Given the description of an element on the screen output the (x, y) to click on. 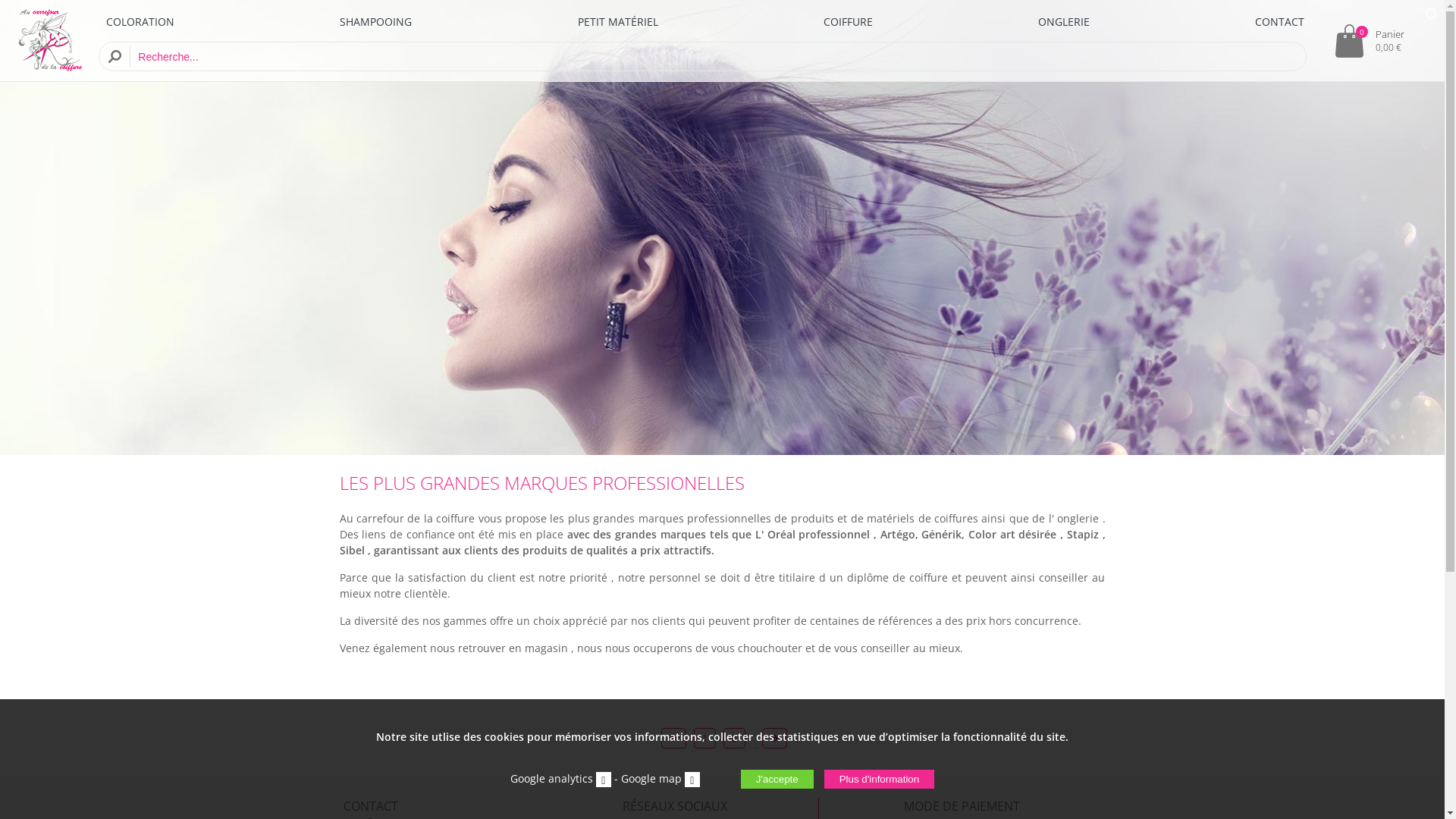
COLORATION Element type: text (140, 20)
J'accepte Element type: text (776, 778)
1 Element type: text (704, 738)
2 Element type: text (734, 738)
CONTACT Element type: text (1279, 20)
COIFFURE Element type: text (847, 20)
ONGLERIE Element type: text (1063, 20)
Plus d'information Element type: text (879, 778)
SHAMPOOING Element type: text (375, 20)
